Given the description of an element on the screen output the (x, y) to click on. 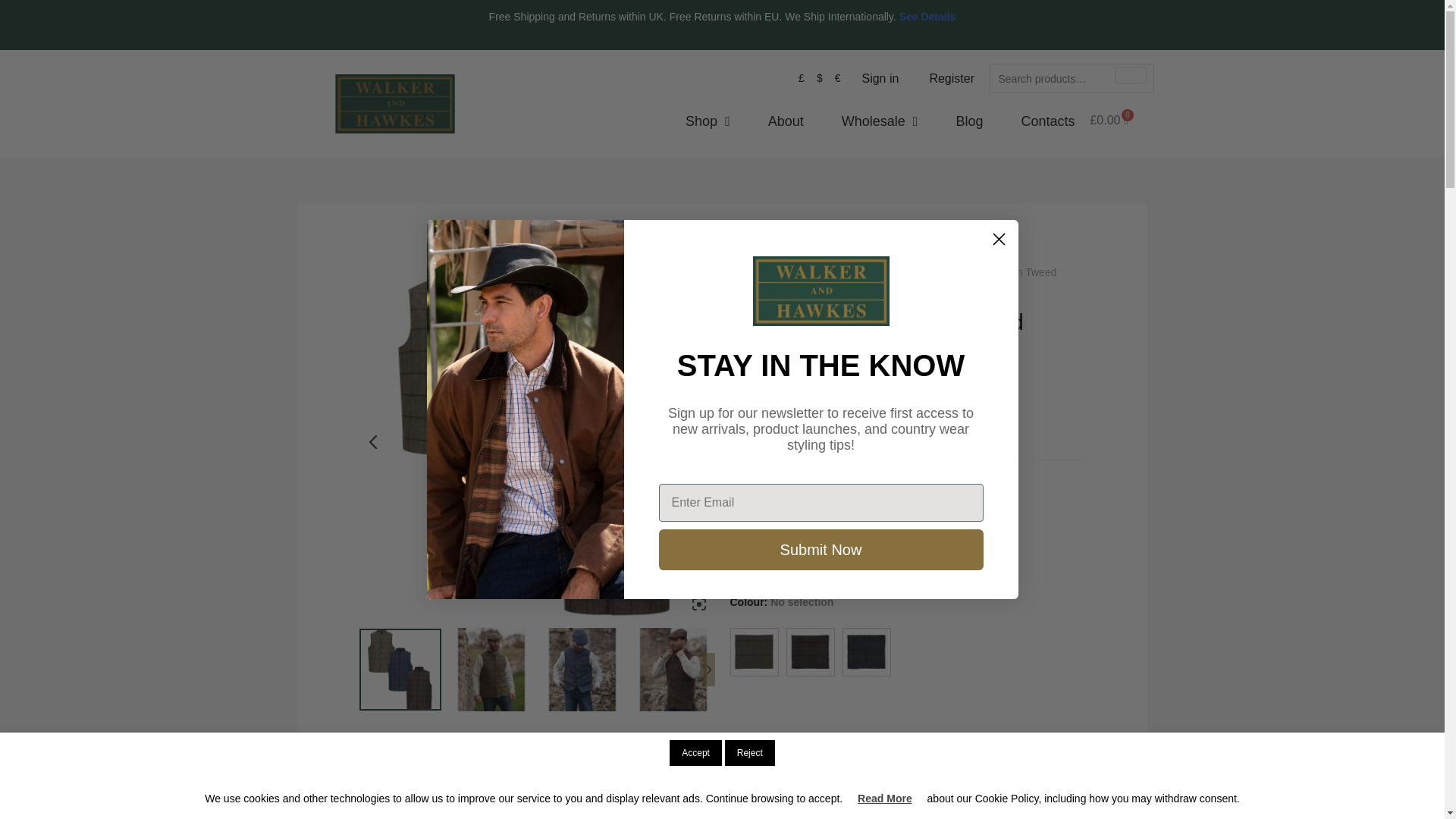
See Details (927, 16)
Sign in (879, 78)
nehru-waistcoat-all (536, 441)
nehru-waistcoat-oak-brown-4 (179, 441)
Shop (707, 121)
Register (952, 78)
1 (748, 749)
Search (1131, 74)
